Given the description of an element on the screen output the (x, y) to click on. 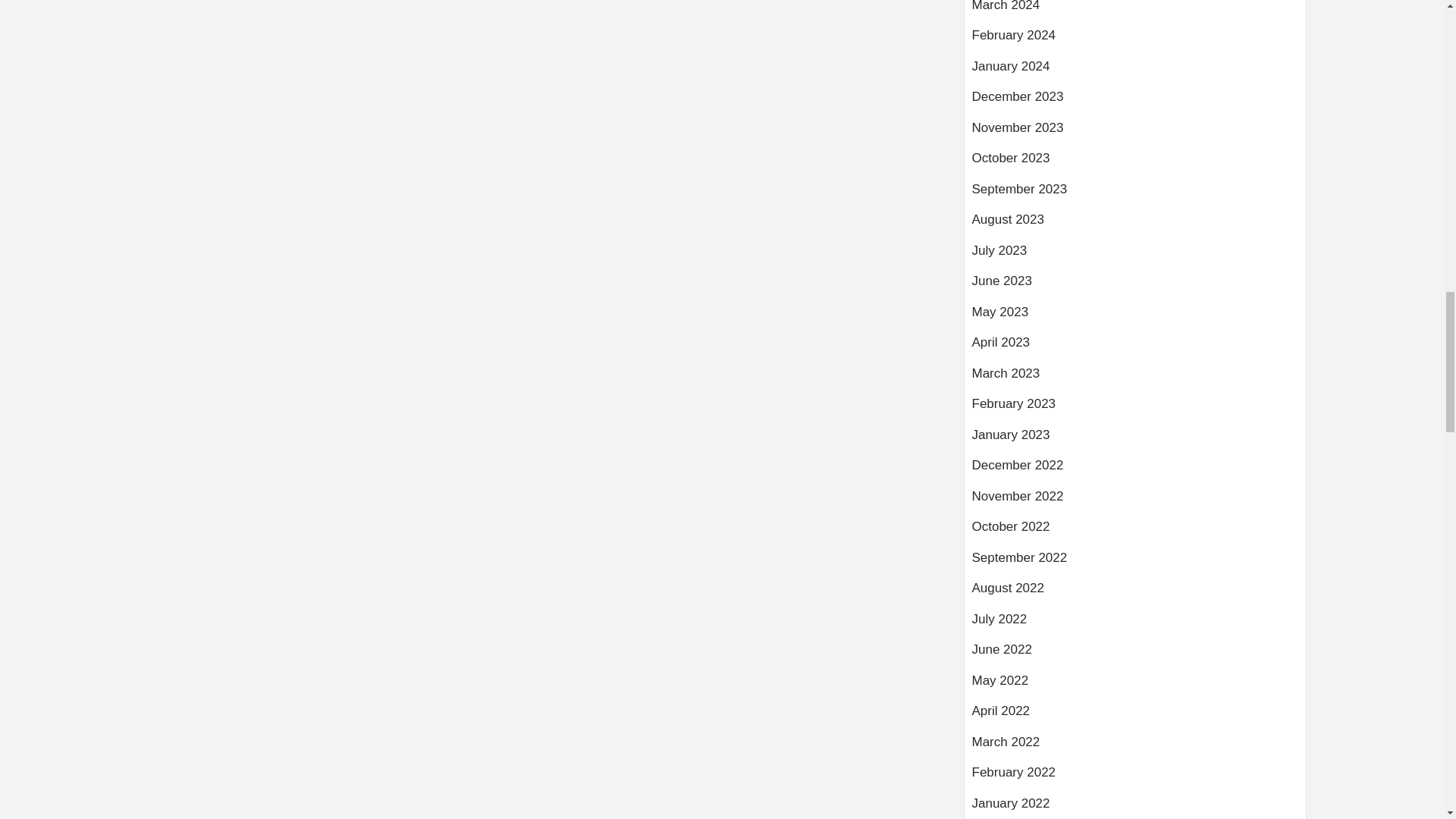
January 2024 (1135, 71)
October 2023 (1135, 163)
December 2023 (1135, 101)
November 2023 (1135, 133)
March 2024 (1135, 13)
August 2023 (1135, 224)
September 2023 (1135, 194)
February 2024 (1135, 40)
